Given the description of an element on the screen output the (x, y) to click on. 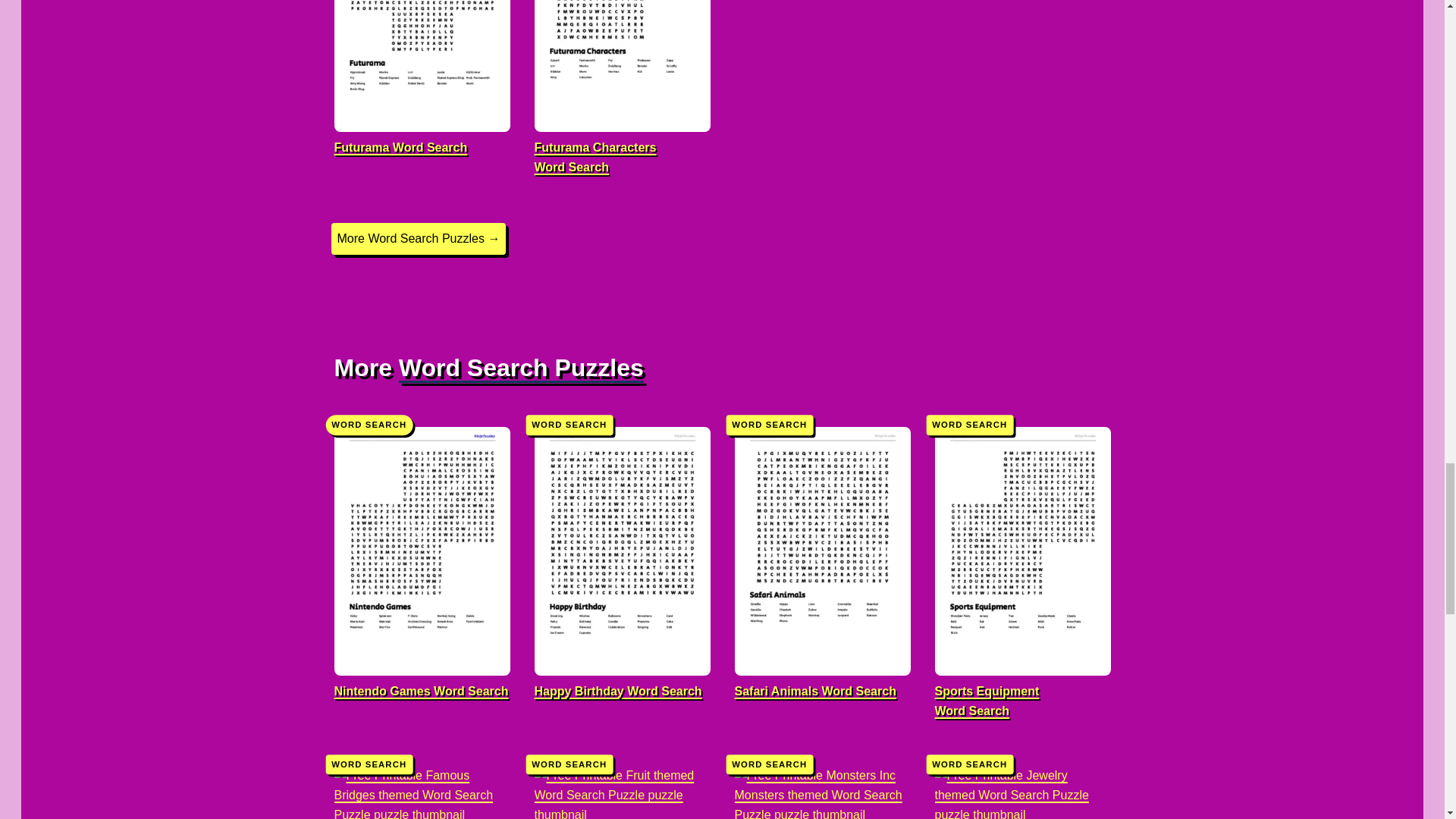
Free Printable Fruit themed Word Search Puzzle  Puzzle (622, 782)
Word Search Puzzles (520, 367)
Free Printable Jewelry themed Word Search Puzzle  Puzzle (1021, 782)
Free Printable Futurama themed Word Search Puzzle  Puzzle (421, 88)
